Given the description of an element on the screen output the (x, y) to click on. 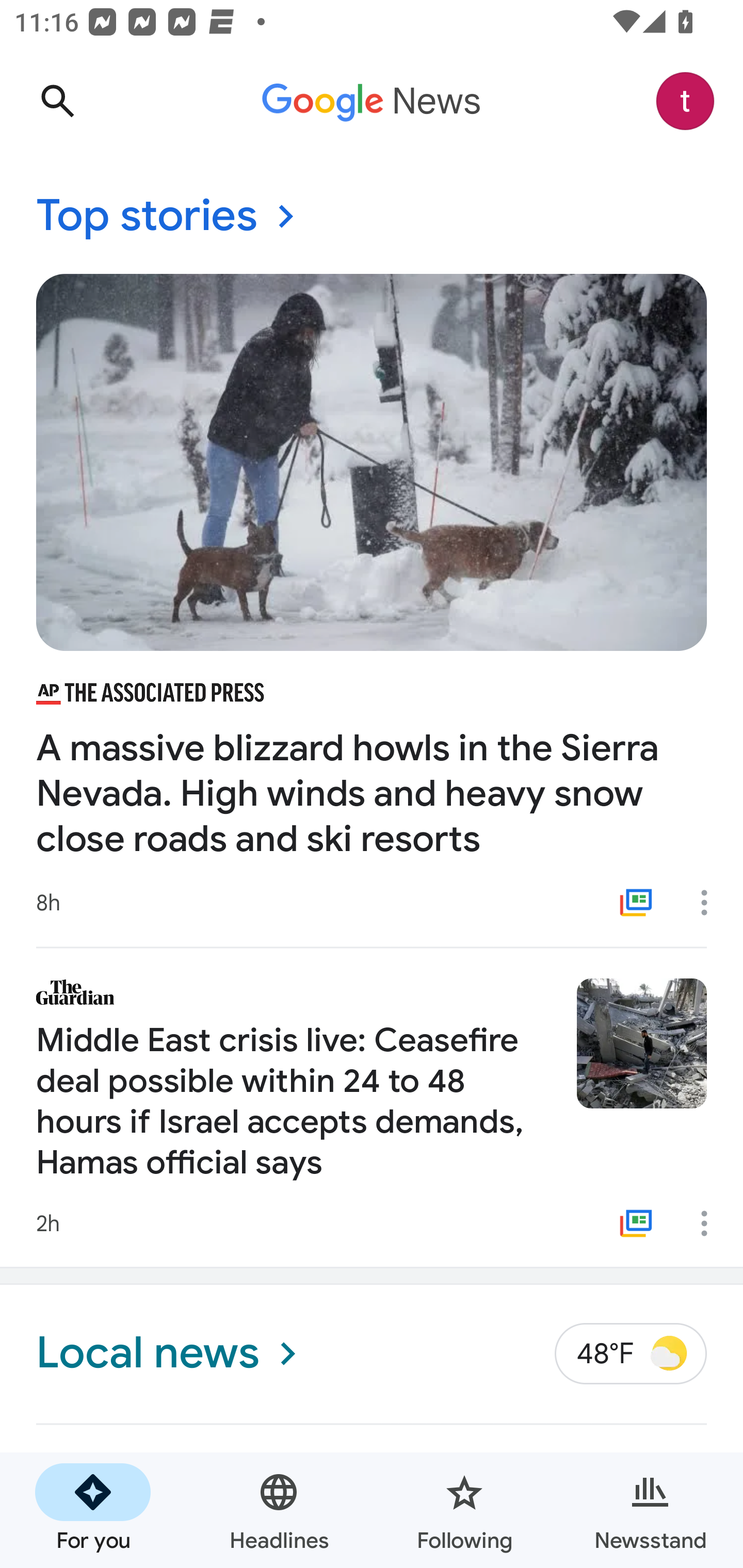
Search (57, 100)
Top stories (371, 216)
More options (711, 902)
More options (711, 1223)
For you (92, 1509)
Headlines (278, 1509)
Following (464, 1509)
Newsstand (650, 1509)
